Given the description of an element on the screen output the (x, y) to click on. 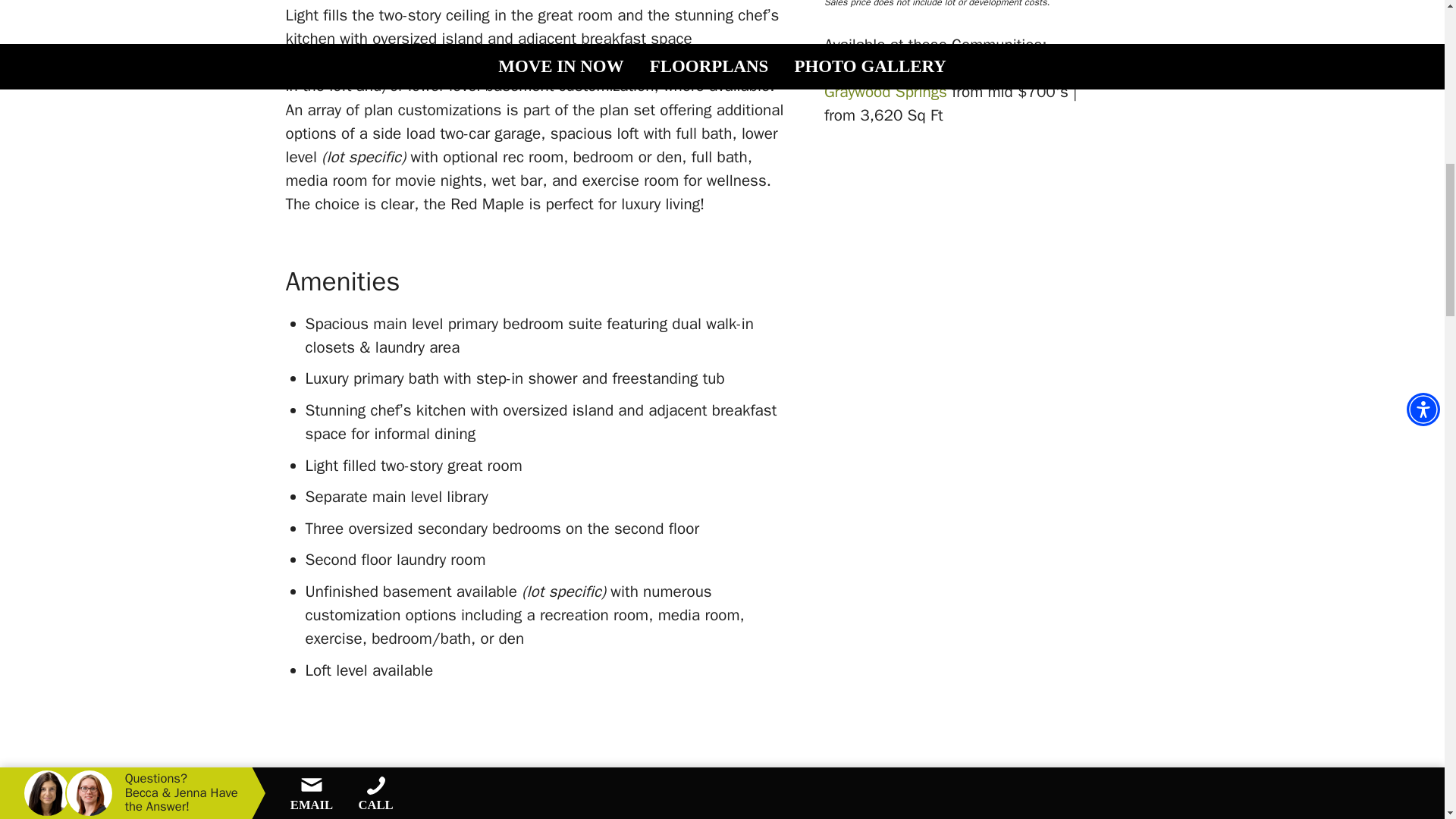
EMAIL (312, 19)
Graywood Springs (885, 91)
CALL (376, 16)
